Given the description of an element on the screen output the (x, y) to click on. 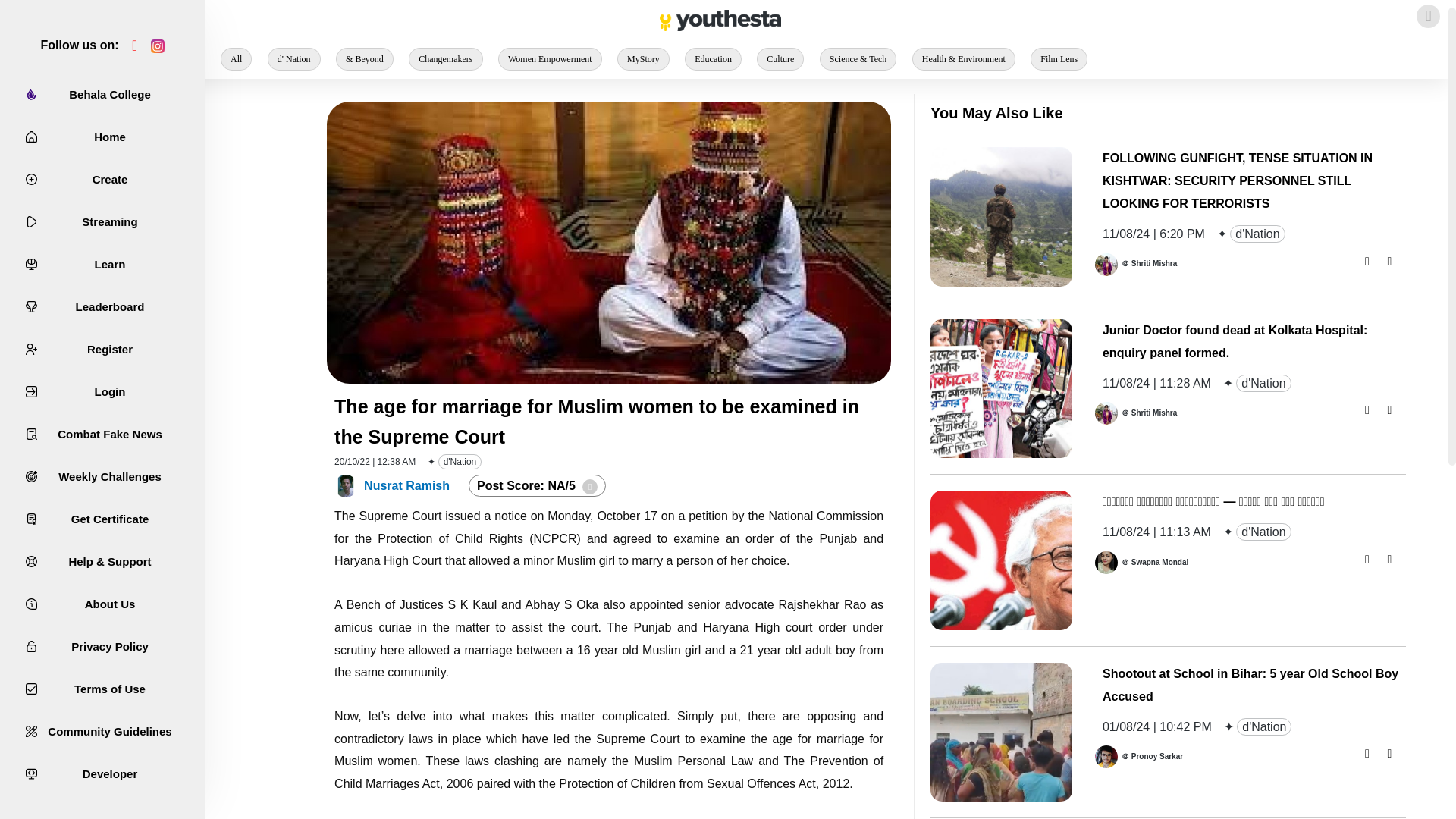
All (236, 58)
Culture (780, 58)
Nusrat Ramish (406, 485)
About Us (101, 603)
Women Empowerment (549, 58)
MyStory (643, 58)
Developer (101, 774)
Login (101, 391)
Create (101, 179)
Changemakers (445, 58)
